Given the description of an element on the screen output the (x, y) to click on. 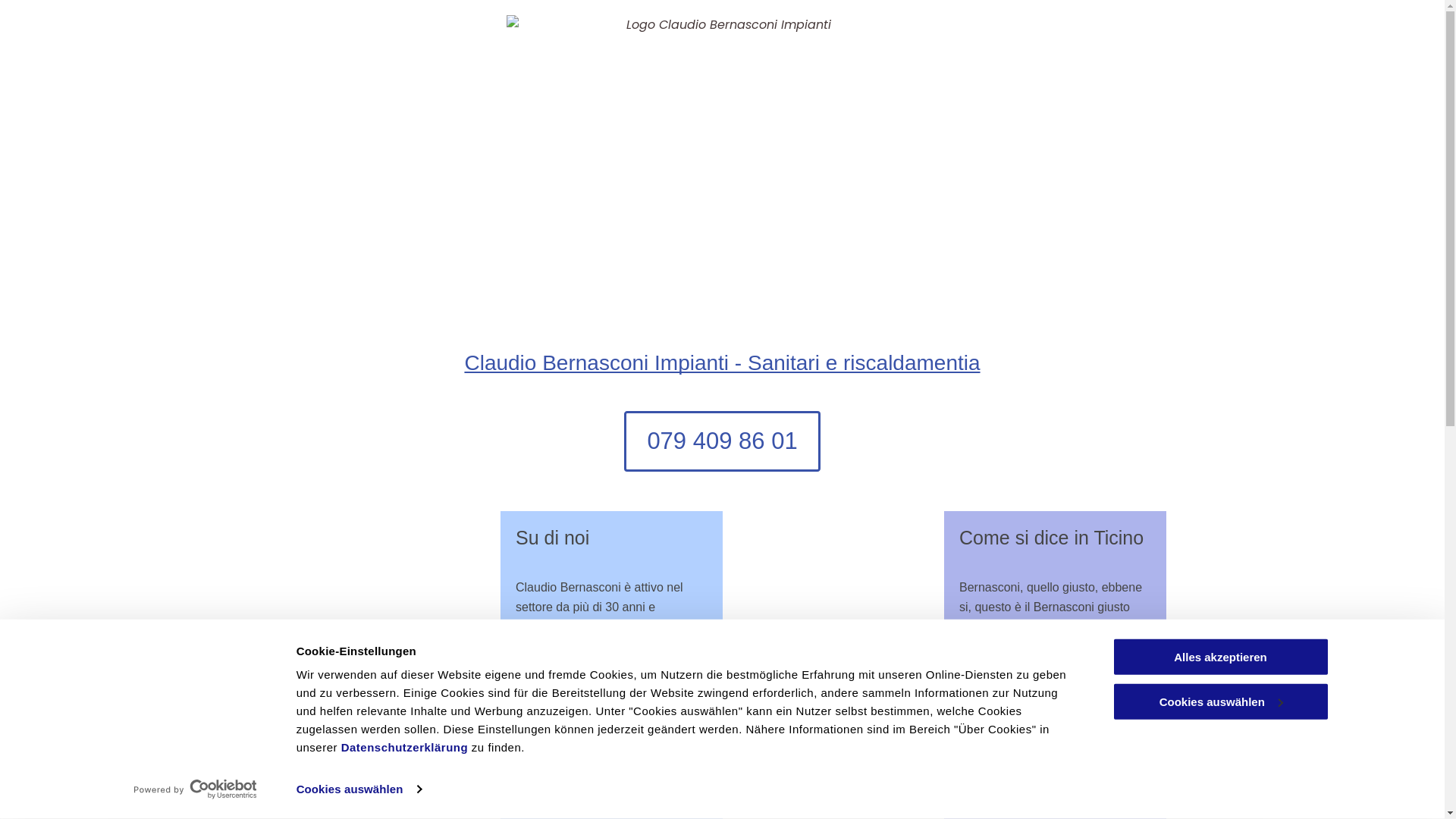
Alles akzeptieren Element type: text (1219, 656)
079 409 86 01 Element type: text (722, 441)
